Given the description of an element on the screen output the (x, y) to click on. 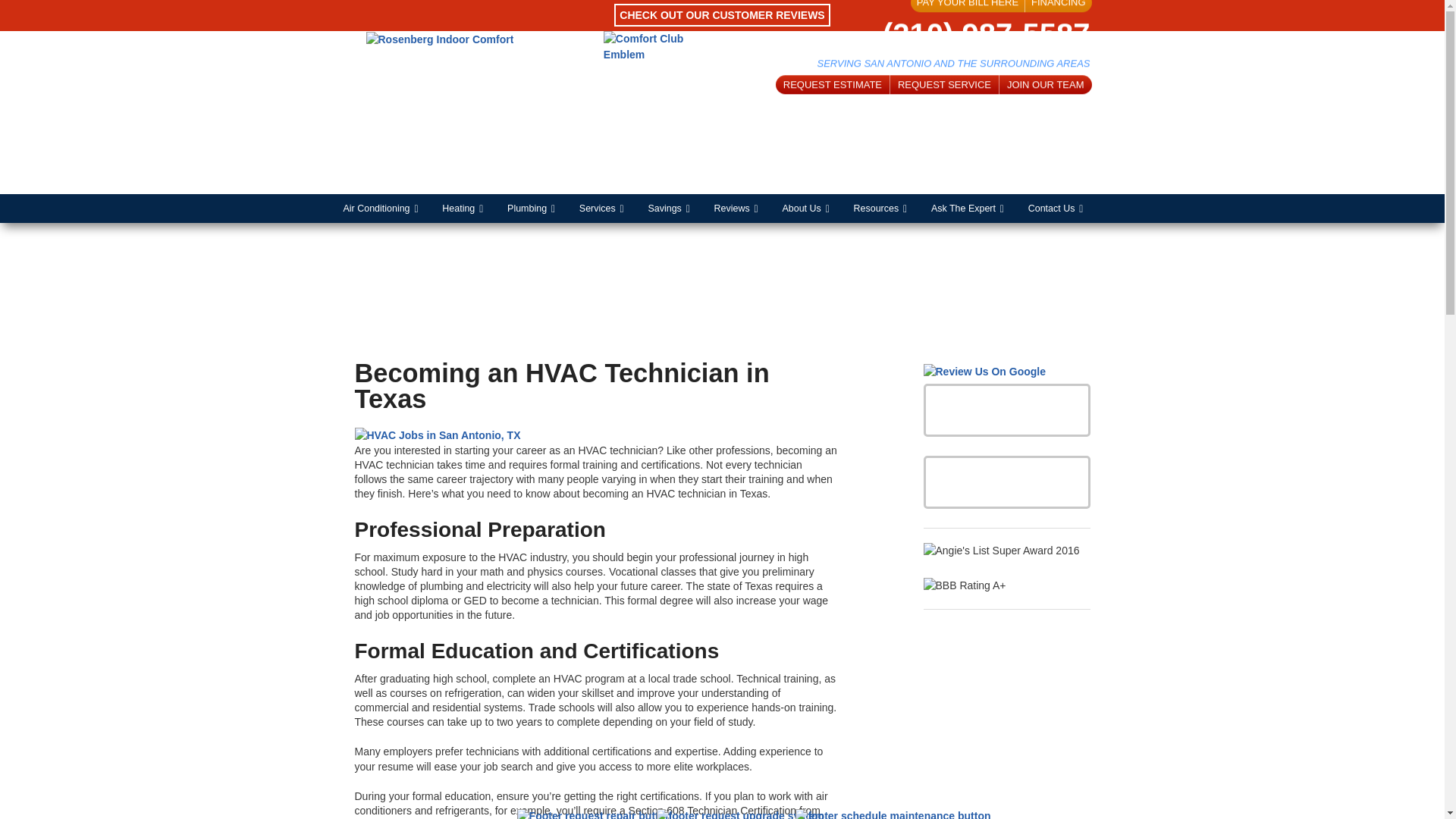
FINANCING (1058, 6)
Plumbing (539, 208)
Services (610, 208)
REQUEST ESTIMATE (832, 84)
Sewer Repair (539, 410)
Water Heaters (539, 496)
Slab Leak Repair (539, 439)
Leak Detection (539, 294)
AC Repair (388, 236)
Repiping (539, 352)
